Given the description of an element on the screen output the (x, y) to click on. 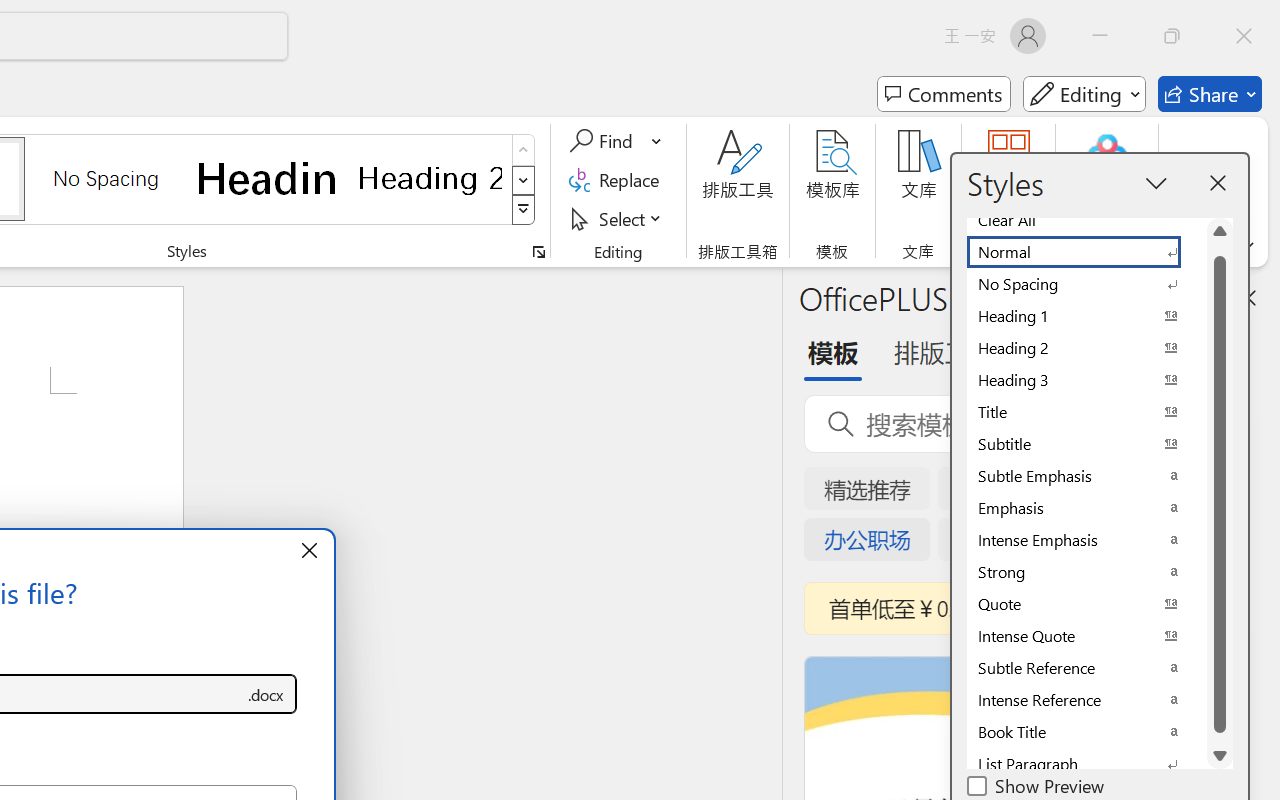
Subtle Reference (1086, 668)
Title (1086, 412)
Close (1244, 36)
List Paragraph (1086, 764)
More Options (657, 141)
Emphasis (1086, 508)
No Spacing (1086, 284)
Select (618, 218)
